Given the description of an element on the screen output the (x, y) to click on. 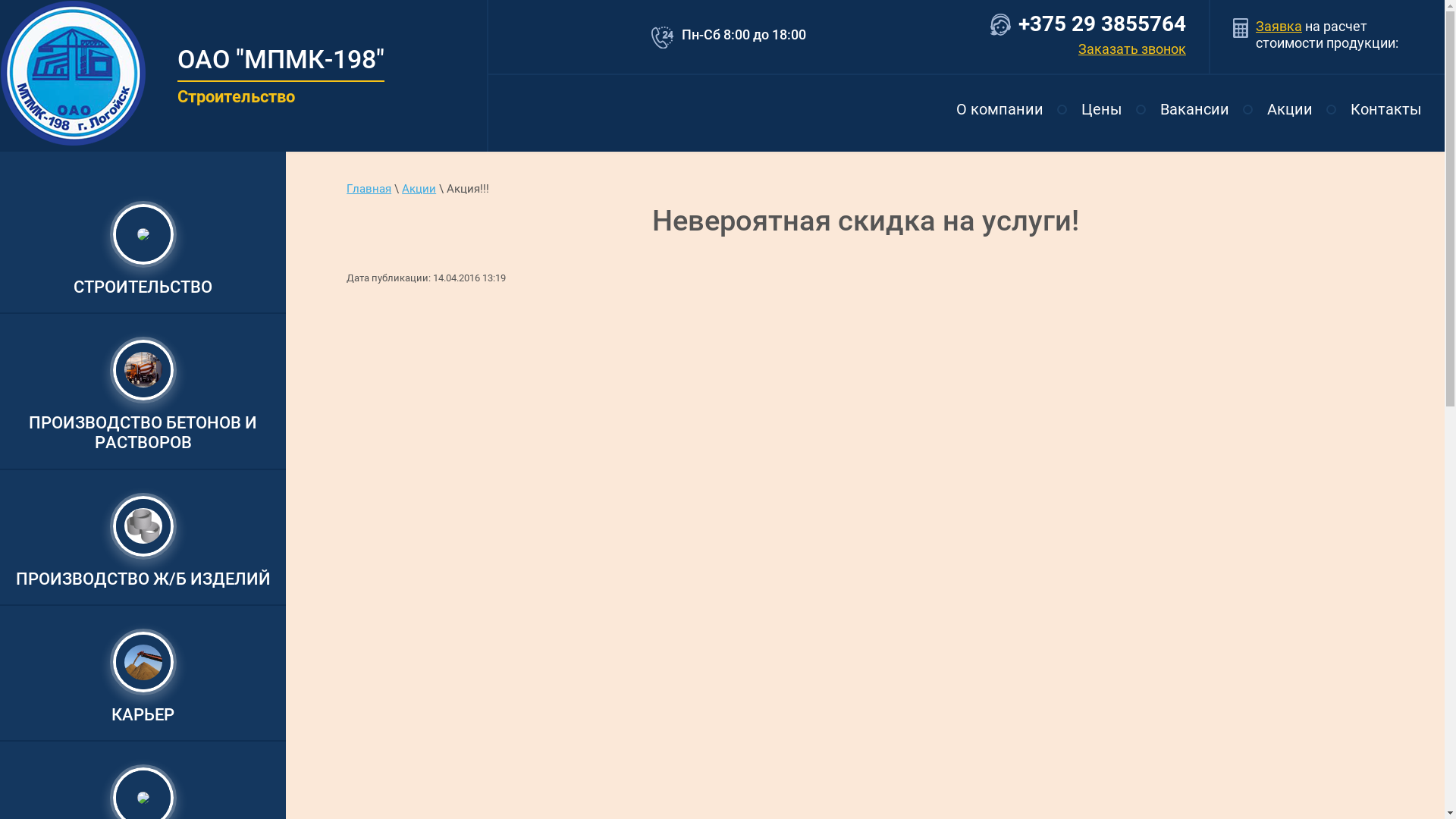
+375 29 3855764 Element type: text (1102, 23)
